Given the description of an element on the screen output the (x, y) to click on. 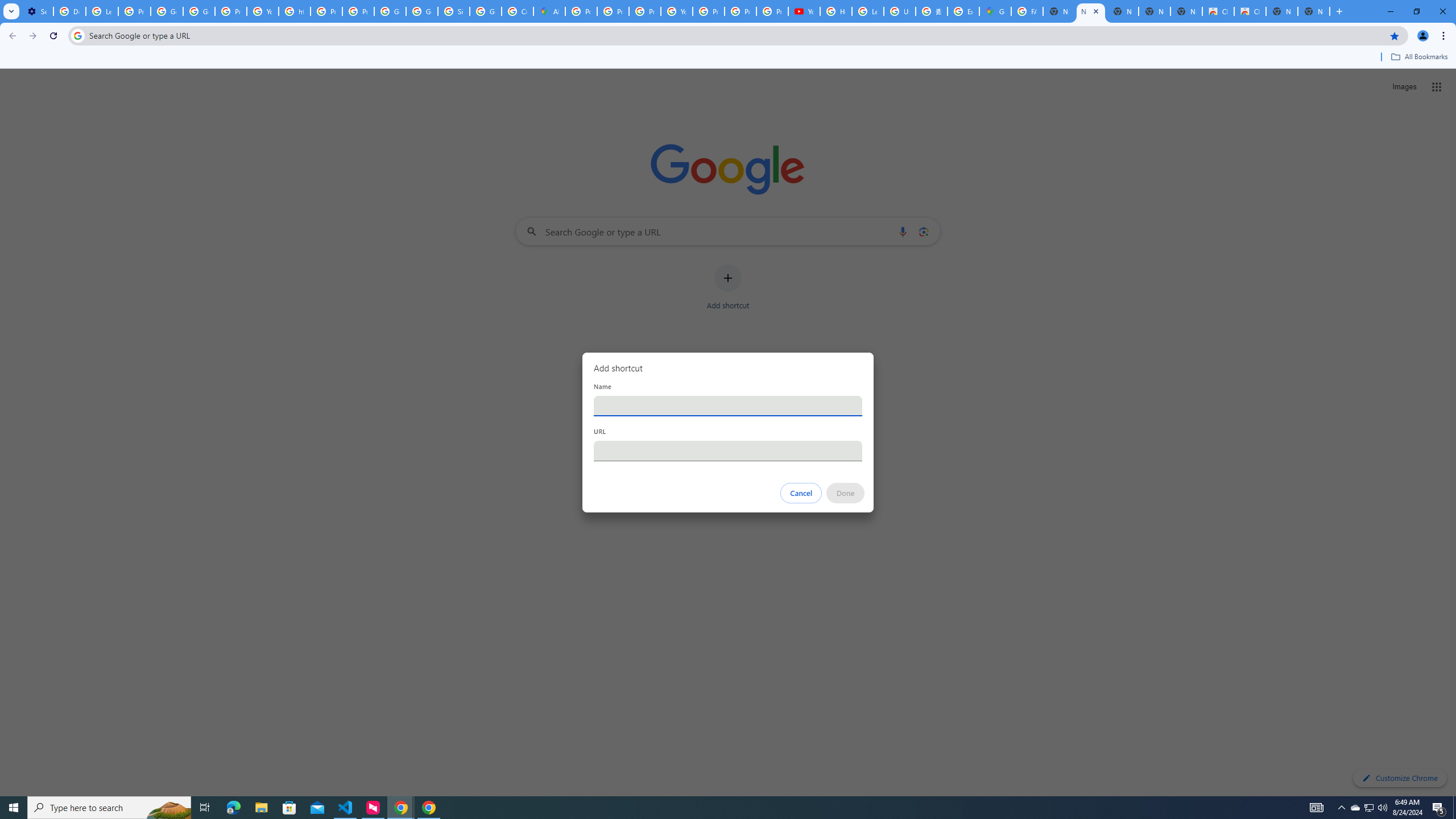
YouTube (804, 11)
Classic Blue - Chrome Web Store (1249, 11)
Create your Google Account (517, 11)
Policy Accountability and Transparency - Transparency Center (581, 11)
Done (845, 493)
Cancel (801, 493)
URL (727, 450)
YouTube (676, 11)
